Given the description of an element on the screen output the (x, y) to click on. 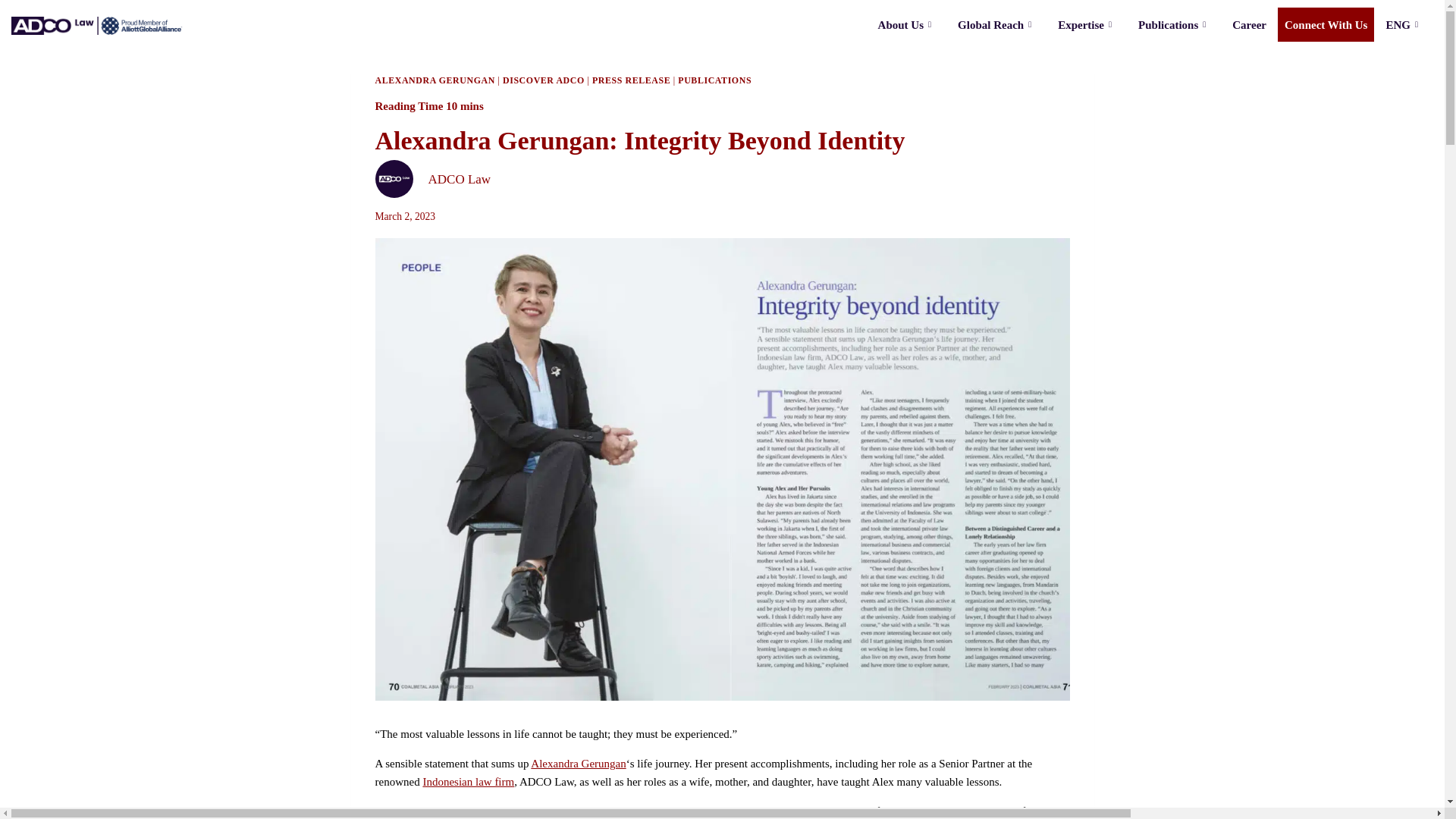
About Us (906, 24)
Global Reach (996, 24)
Expertise (1086, 24)
